Given the description of an element on the screen output the (x, y) to click on. 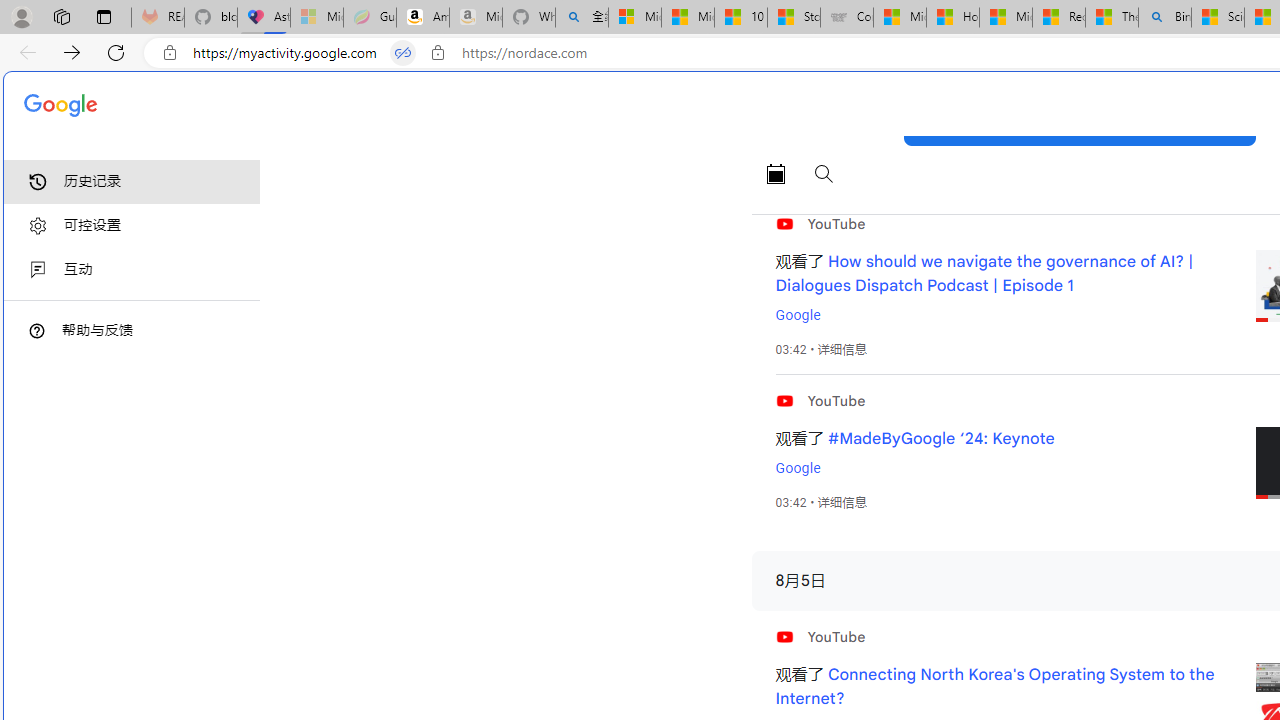
Class: i2GIId (38, 269)
Connecting North Korea's Operating System to the Internet? (994, 687)
